Given the description of an element on the screen output the (x, y) to click on. 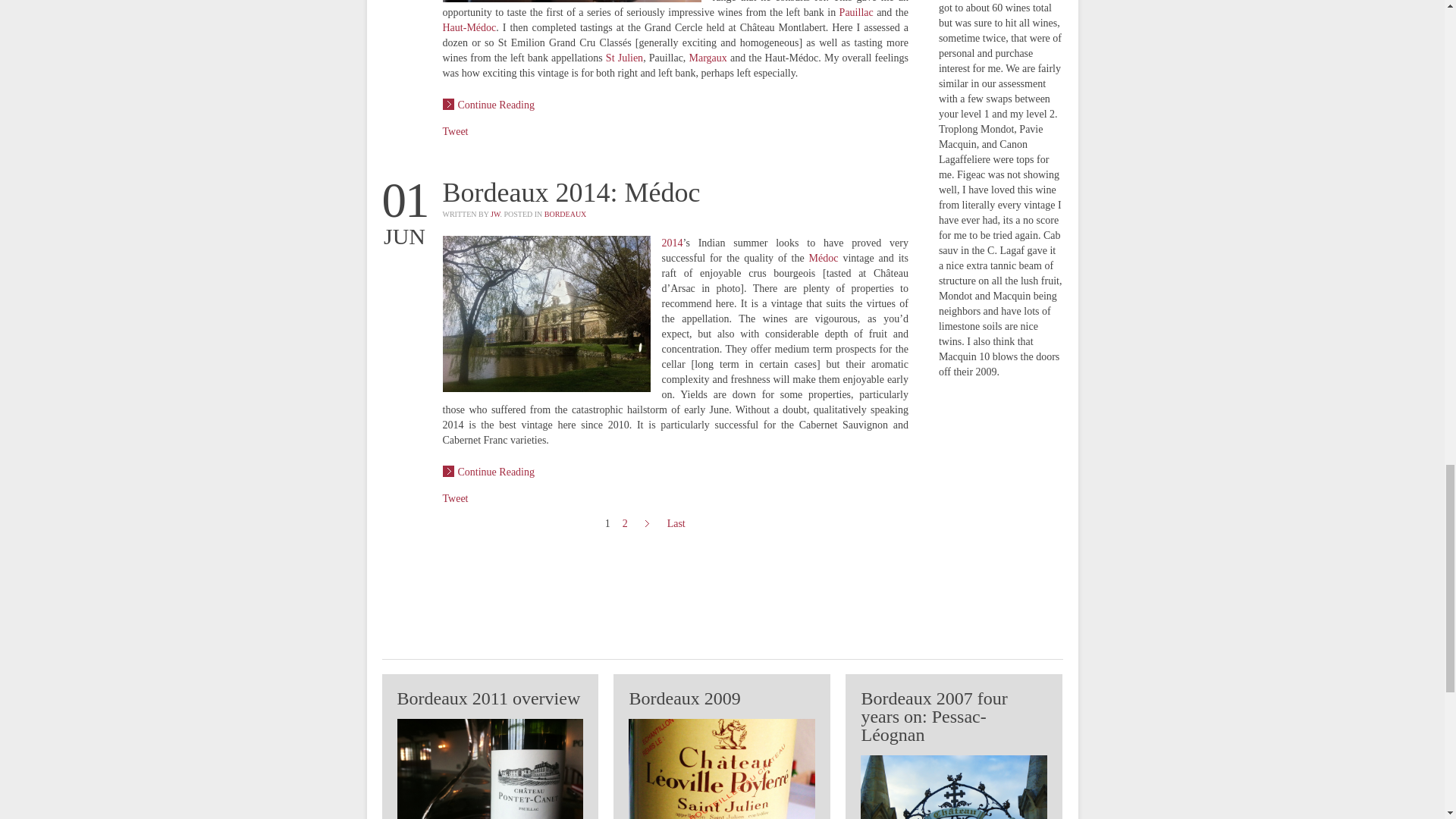
JW (494, 213)
Bordeaux Primeurs 2016: Day 2 (488, 103)
